Given the description of an element on the screen output the (x, y) to click on. 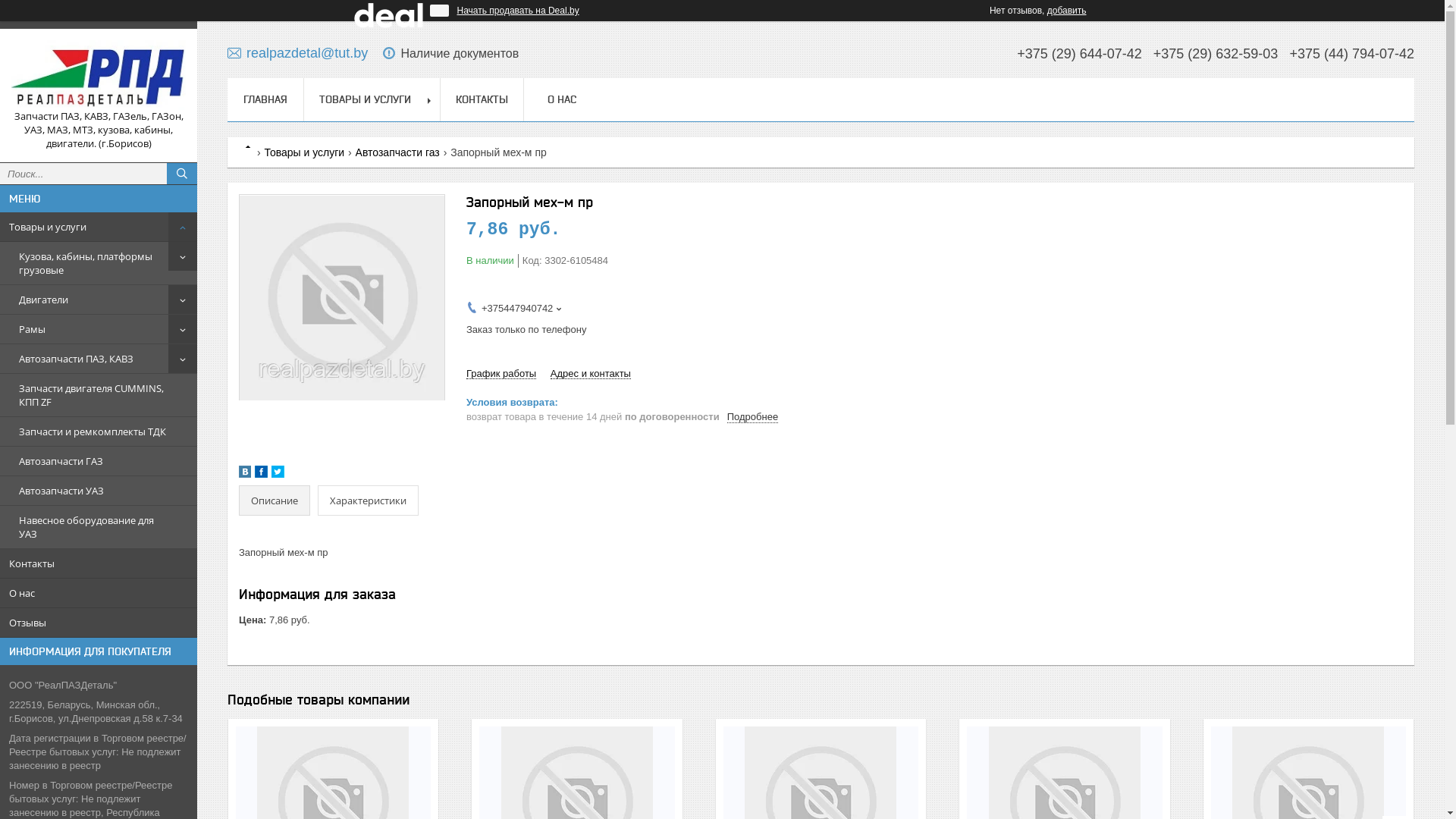
twitter Element type: hover (277, 474)
facebook Element type: hover (260, 474)
realpazdetal@tut.by Element type: text (297, 52)
